Given the description of an element on the screen output the (x, y) to click on. 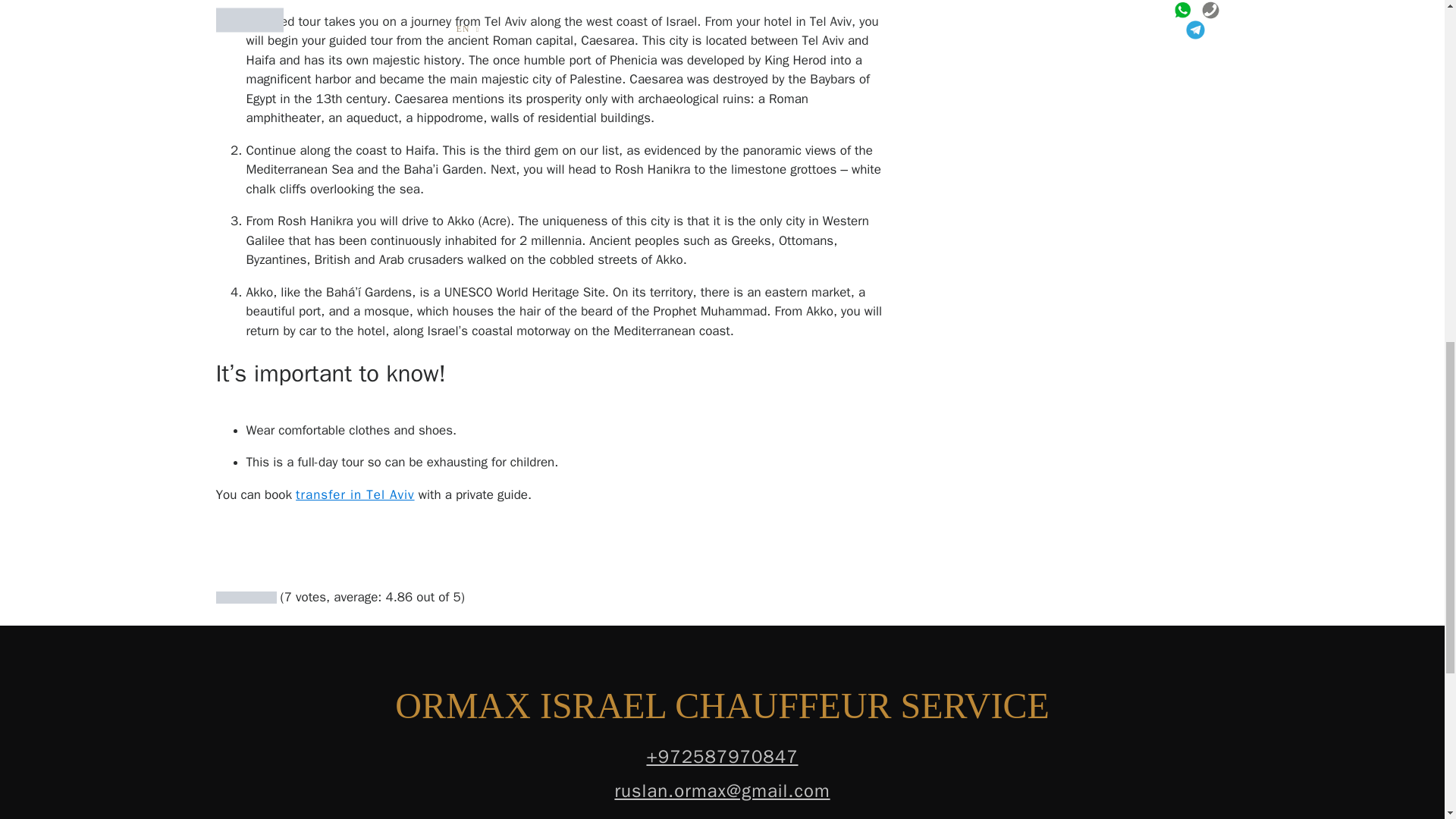
5 Stars (269, 597)
2 Stars (233, 597)
3 Stars (245, 597)
4 Stars (257, 597)
1 Star (221, 597)
